Given the description of an element on the screen output the (x, y) to click on. 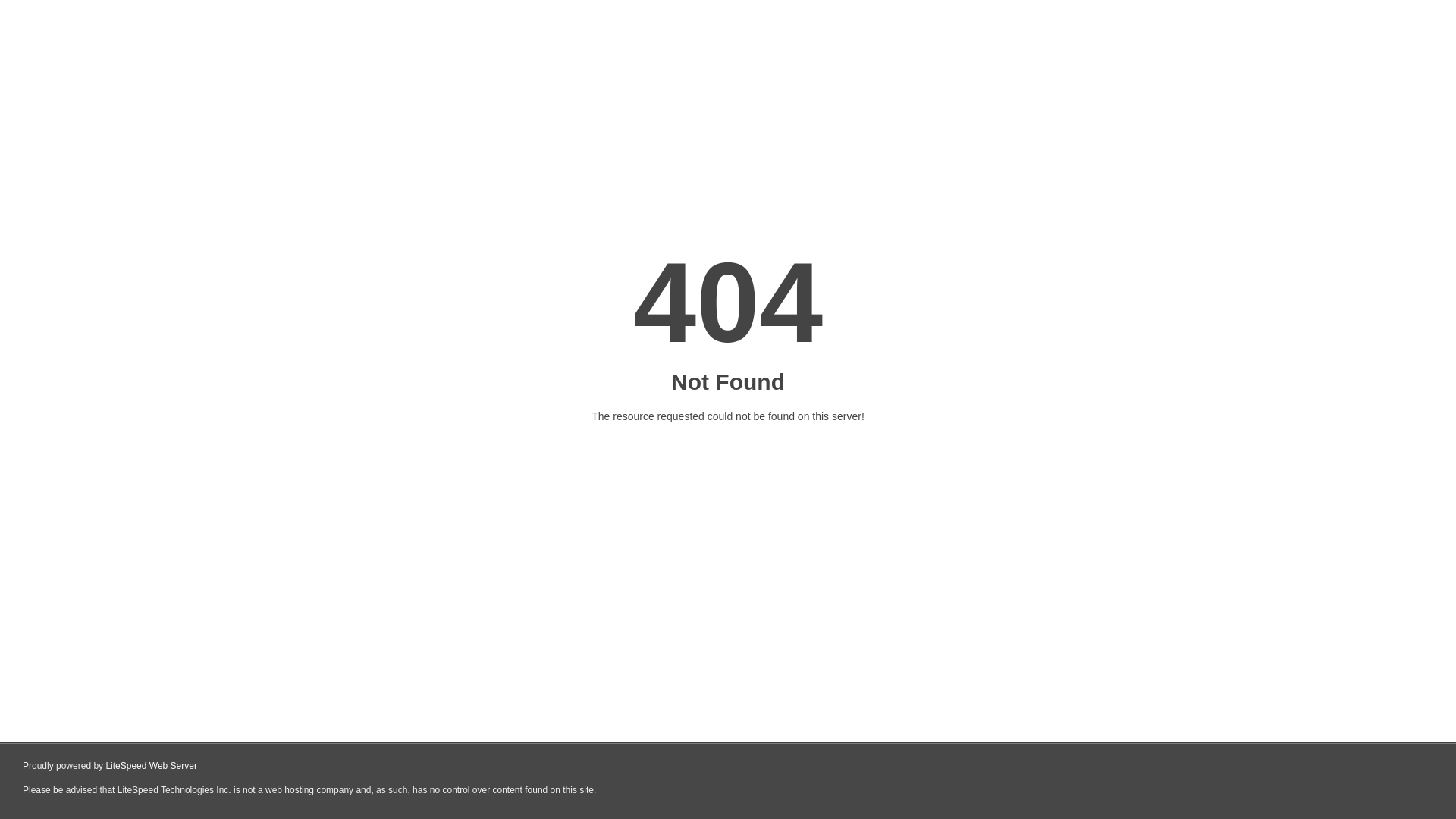
LiteSpeed Web Server Element type: text (151, 765)
